Given the description of an element on the screen output the (x, y) to click on. 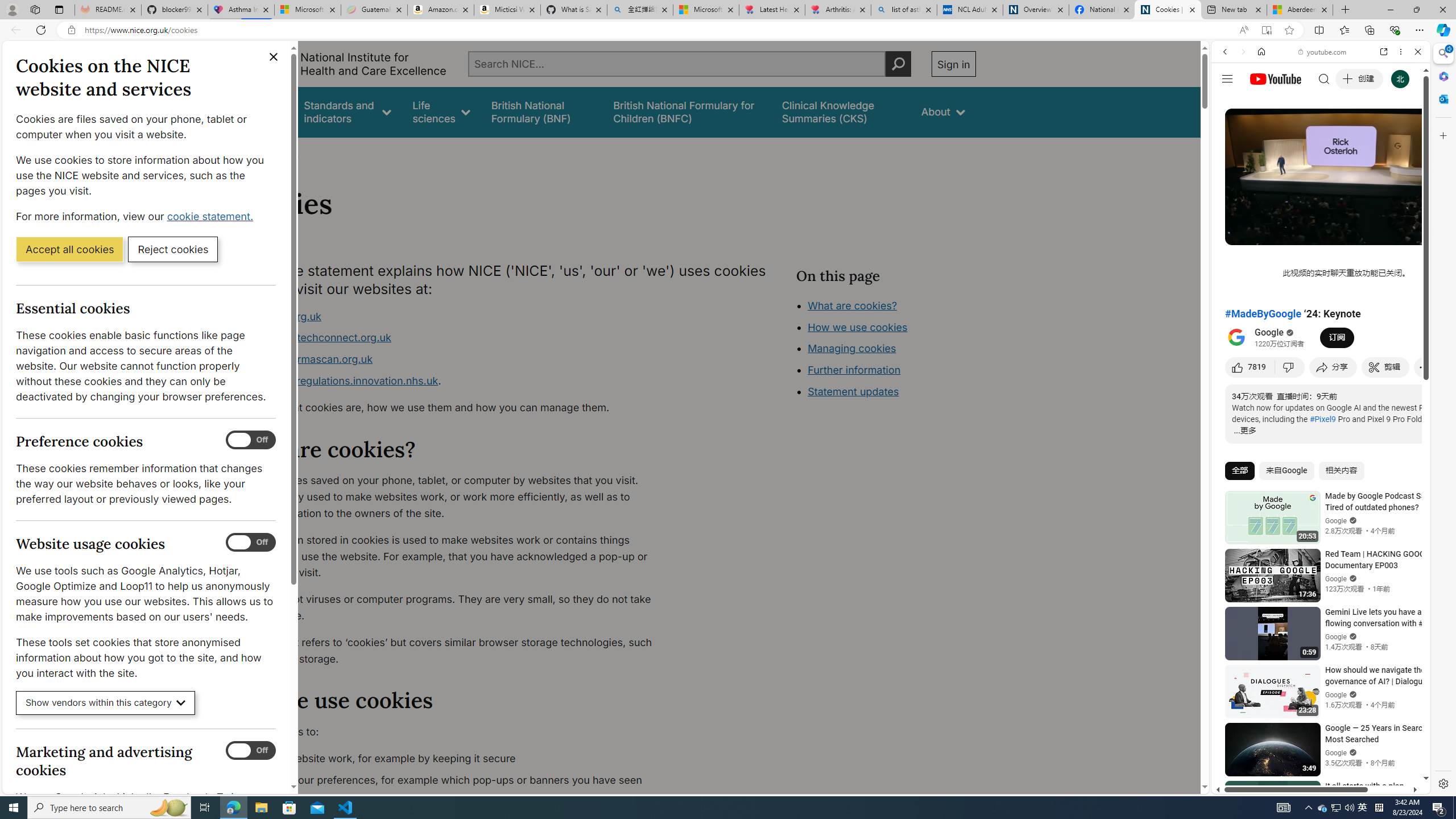
Marketing and advertising cookies (250, 750)
VIDEOS (1300, 130)
#you (1315, 659)
make our website work, for example by keeping it secure (452, 759)
Show More Music (1390, 310)
